Given the description of an element on the screen output the (x, y) to click on. 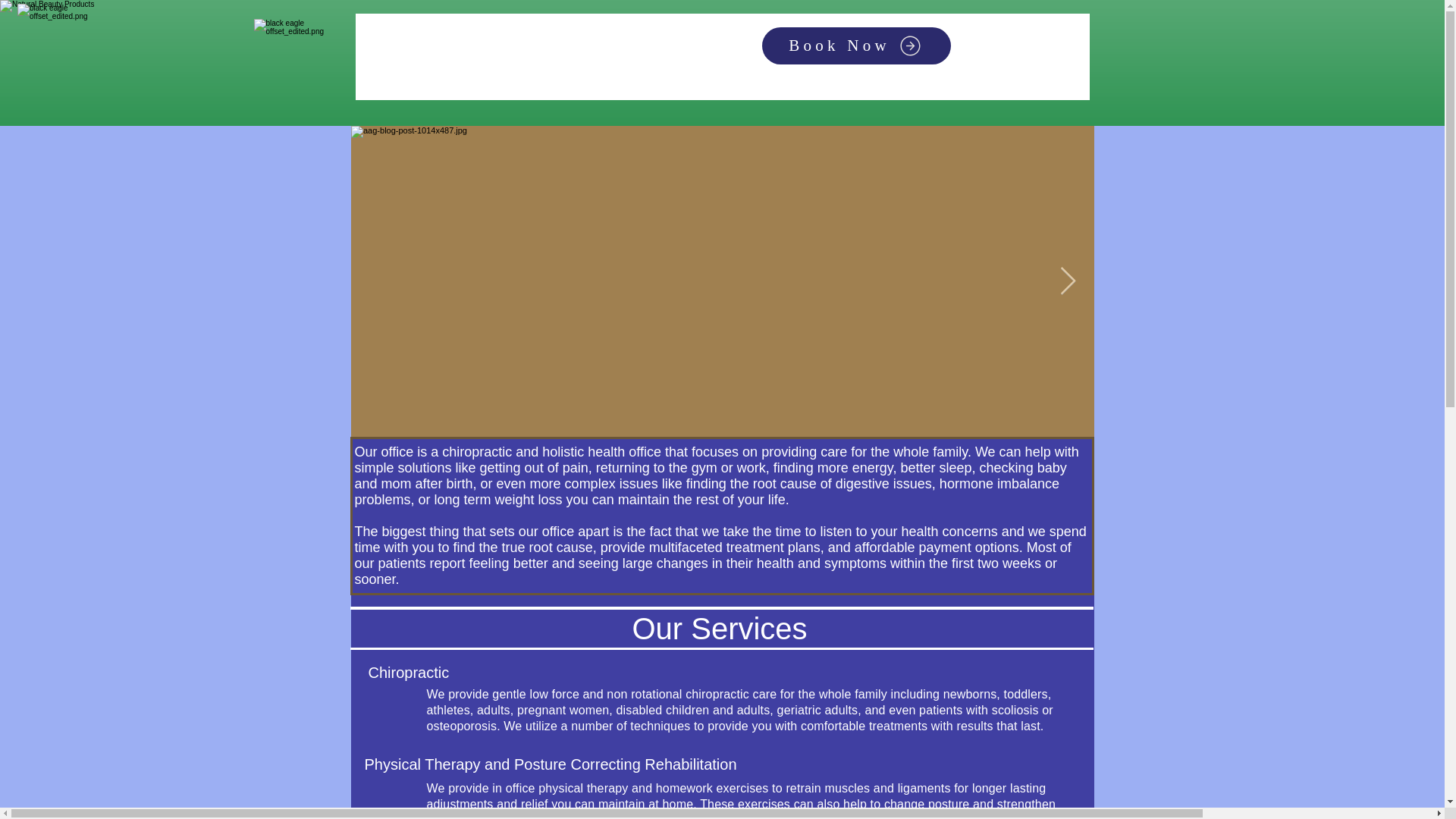
Book Now (855, 45)
black eagle offset.png (303, 68)
black eagle offset.png (67, 54)
